Given the description of an element on the screen output the (x, y) to click on. 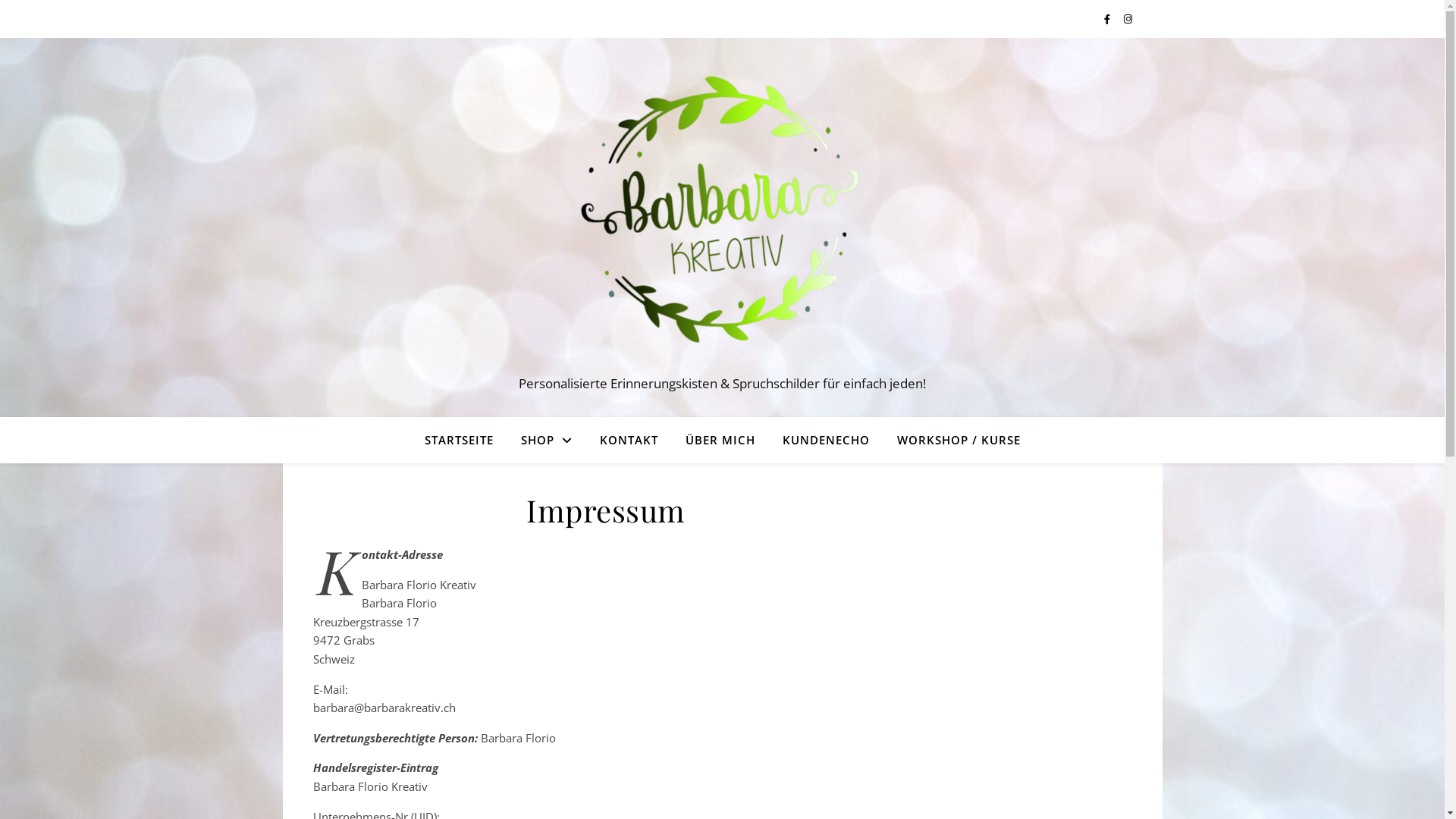
WORKSHOP / KURSE Element type: text (951, 439)
KONTAKT Element type: text (627, 439)
SHOP Element type: text (545, 440)
STARTSEITE Element type: text (464, 439)
KUNDENECHO Element type: text (825, 439)
Barbara Kreativ Erinnerungskisten Element type: hover (721, 213)
